Given the description of an element on the screen output the (x, y) to click on. 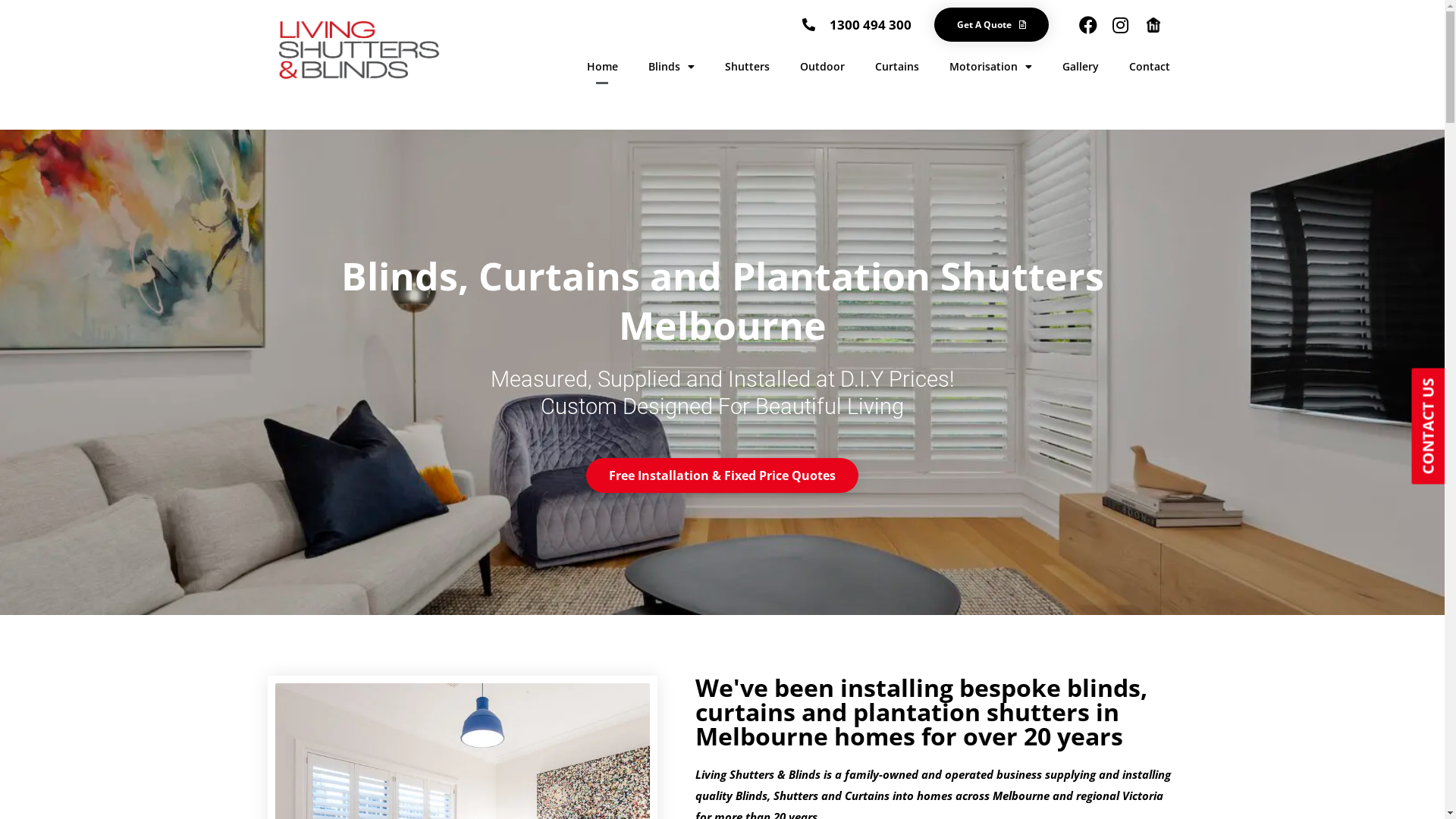
Home Element type: text (602, 66)
Curtains Element type: text (897, 66)
Free Installation & Fixed Price Quotes Element type: text (722, 475)
Contact Element type: text (1148, 66)
Gallery Element type: text (1079, 66)
Motorisation Element type: text (990, 66)
1300 494 300 Element type: text (856, 23)
Shutters Element type: text (746, 66)
Blinds Element type: text (670, 66)
Outdoor Element type: text (821, 66)
Get A Quote Element type: text (991, 24)
